Given the description of an element on the screen output the (x, y) to click on. 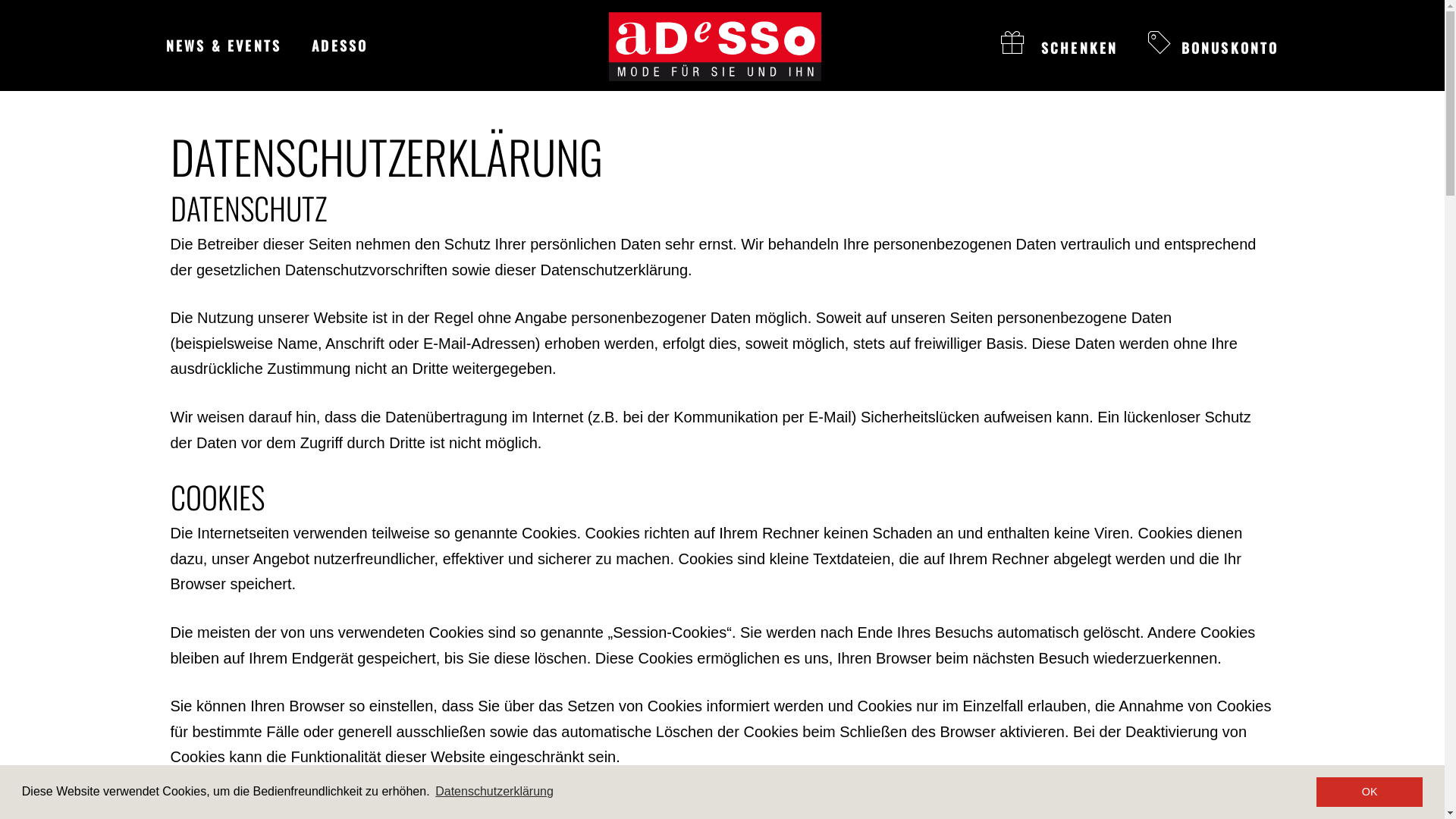
NEWS & EVENTS Element type: text (223, 45)
OK Element type: text (1369, 791)
BONUSKONTO Element type: text (1213, 47)
SCHENKEN Element type: text (1059, 47)
ADESSO Element type: text (339, 45)
Adesso Boutique Element type: hover (714, 46)
